Given the description of an element on the screen output the (x, y) to click on. 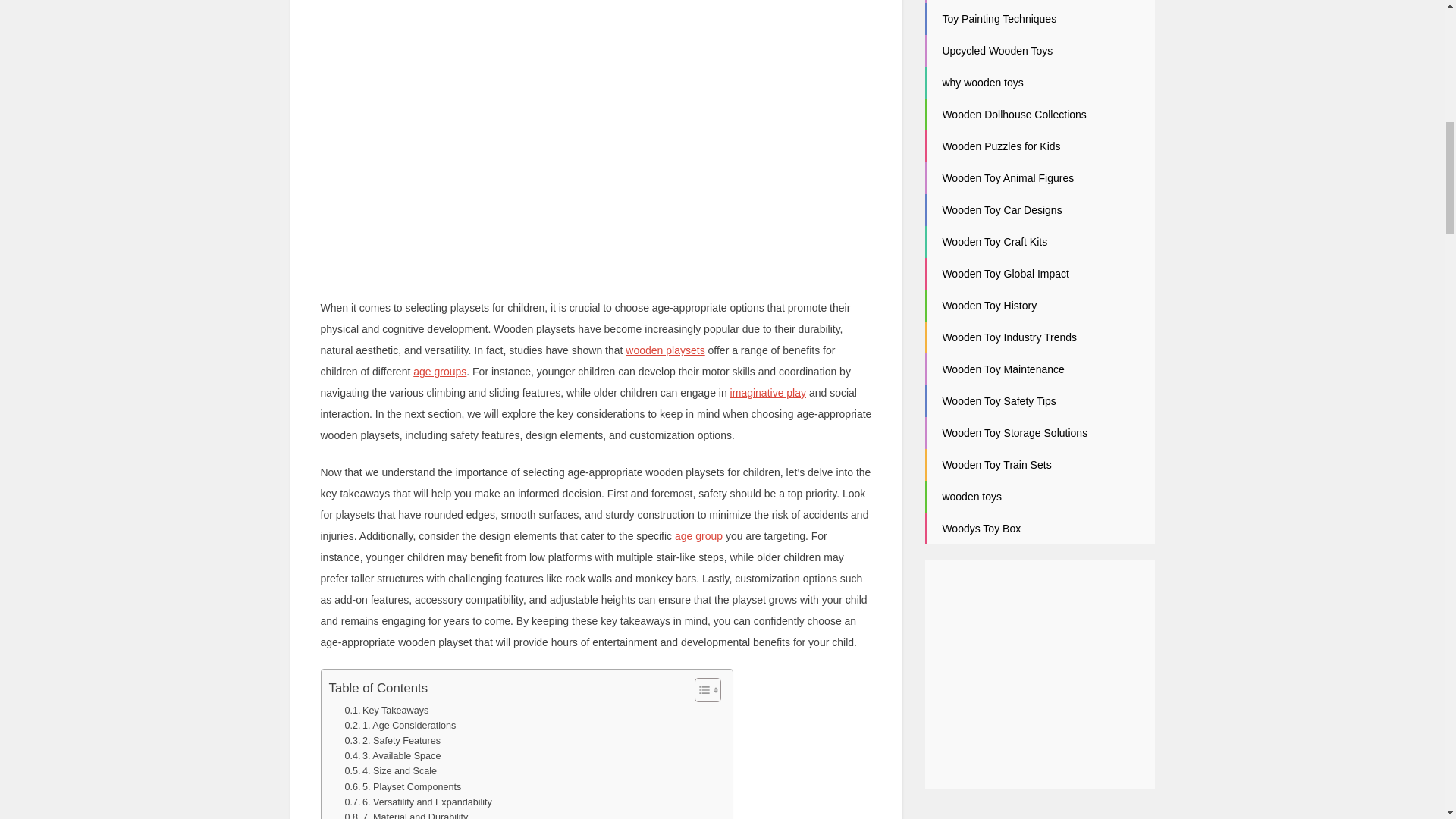
3. Available Space (392, 755)
age group (698, 535)
7. Material and Durability (405, 814)
wooden playsets (665, 349)
age groups (439, 371)
7. Material and Durability (405, 814)
5. Playset Components (402, 786)
1. Age Considerations (399, 725)
